Given the description of an element on the screen output the (x, y) to click on. 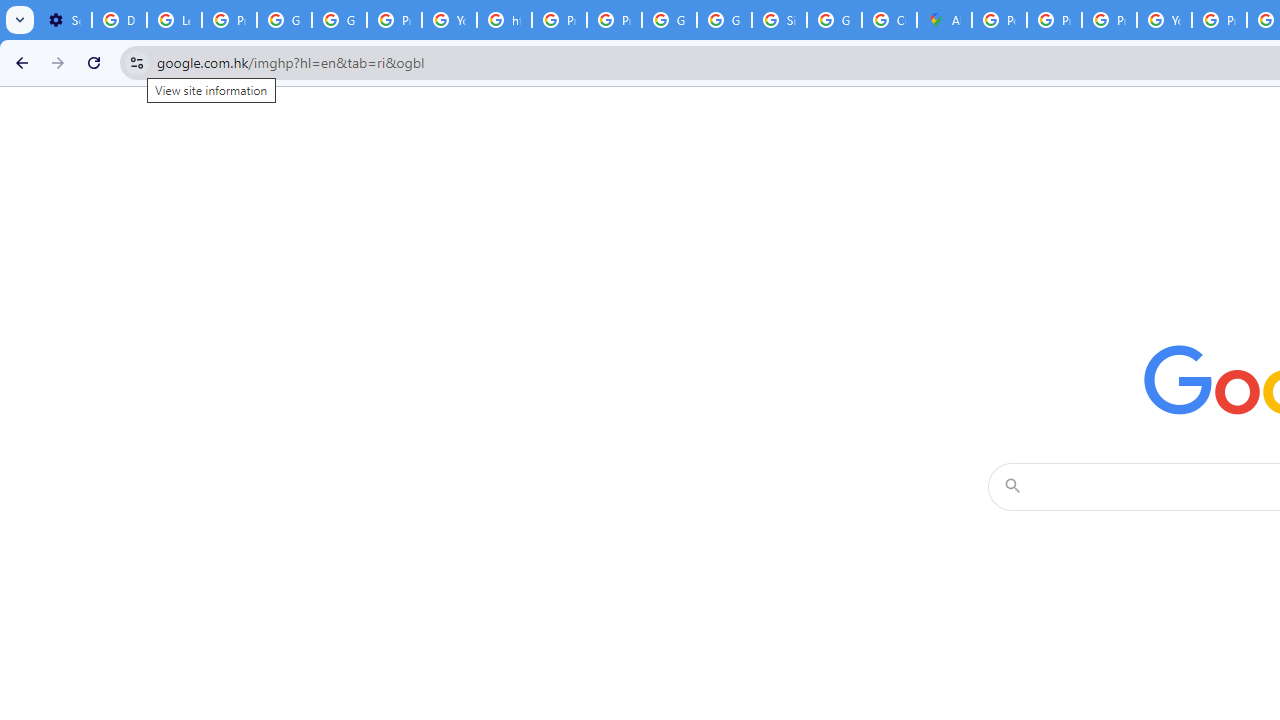
Create your Google Account (888, 20)
YouTube (1163, 20)
Sign in - Google Accounts (779, 20)
Delete photos & videos - Computer - Google Photos Help (119, 20)
YouTube (449, 20)
Privacy Help Center - Policies Help (1108, 20)
